Given the description of an element on the screen output the (x, y) to click on. 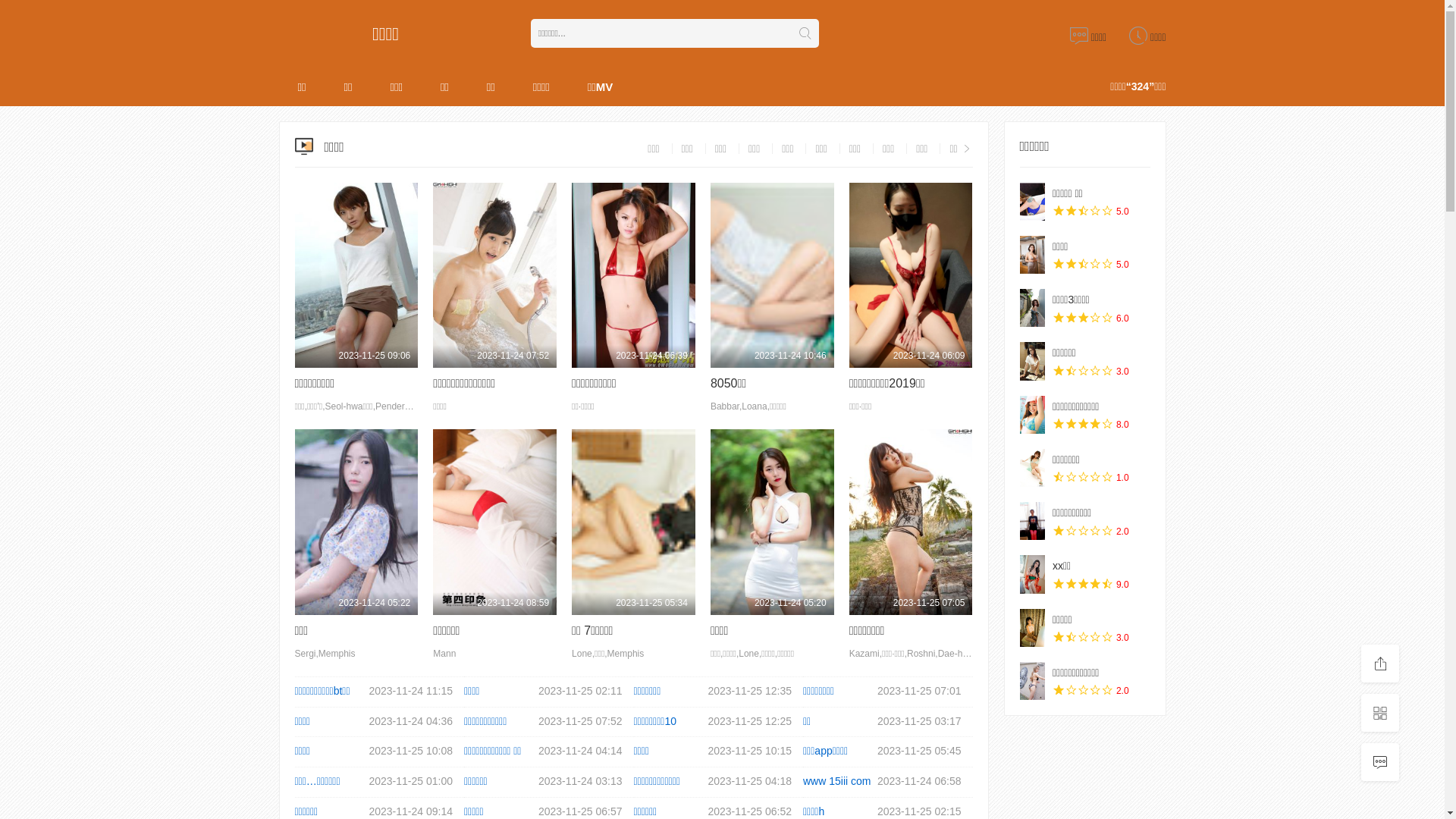
2023-11-25 09:06 Element type: text (355, 274)
2023-11-25 07:05 Element type: text (910, 521)
2023-11-24 06:58
www 15iii com Element type: text (887, 781)
2023-11-24 05:20 Element type: text (772, 521)
2023-11-24 05:22 Element type: text (355, 521)
2023-11-25 05:34 Element type: text (633, 521)
2023-11-24 06:09 Element type: text (910, 274)
2023-11-24 08:59 Element type: text (494, 521)
2023-11-24 07:52 Element type: text (494, 274)
2023-11-24 10:46 Element type: text (772, 274)
2023-11-24 06:39 Element type: text (633, 274)
